Given the description of an element on the screen output the (x, y) to click on. 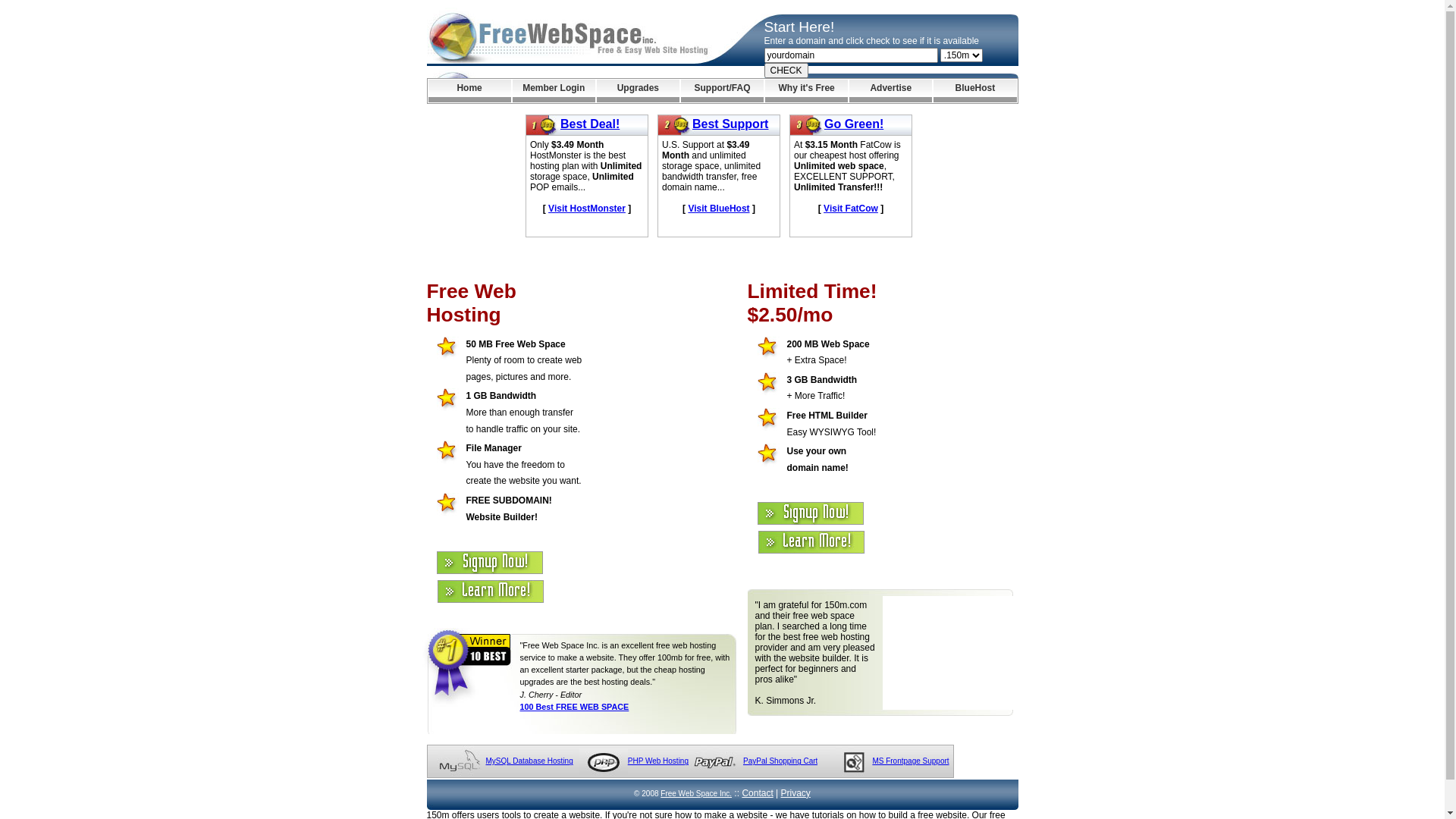
Advertise Element type: text (890, 90)
Support/FAQ Element type: text (721, 90)
PHP Web Hosting Element type: text (657, 760)
Contact Element type: text (756, 792)
Upgrades Element type: text (637, 90)
CHECK Element type: text (786, 70)
MS Frontpage Support Element type: text (910, 760)
Home Element type: text (468, 90)
BlueHost Element type: text (974, 90)
Why it's Free Element type: text (806, 90)
Member Login Element type: text (553, 90)
Free Web Space Inc. Element type: text (695, 793)
Privacy Element type: text (795, 792)
MySQL Database Hosting Element type: text (528, 760)
100 Best FREE WEB SPACE Element type: text (574, 706)
PayPal Shopping Cart Element type: text (780, 760)
